Given the description of an element on the screen output the (x, y) to click on. 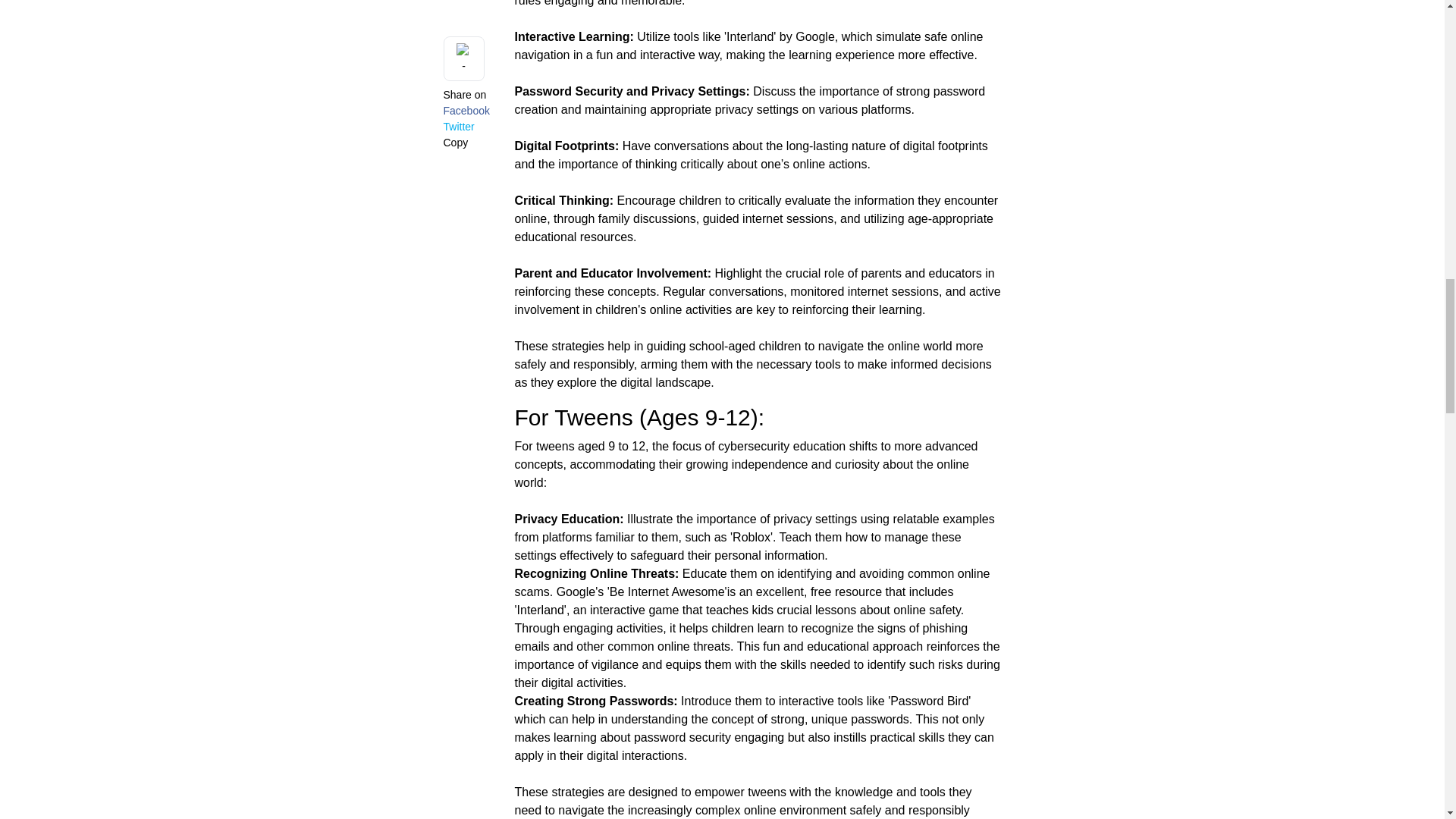
'Interland' by Google (778, 36)
Password Bird (928, 700)
Google's 'Be Internet Awesome' (641, 591)
Roblox (751, 536)
